Given the description of an element on the screen output the (x, y) to click on. 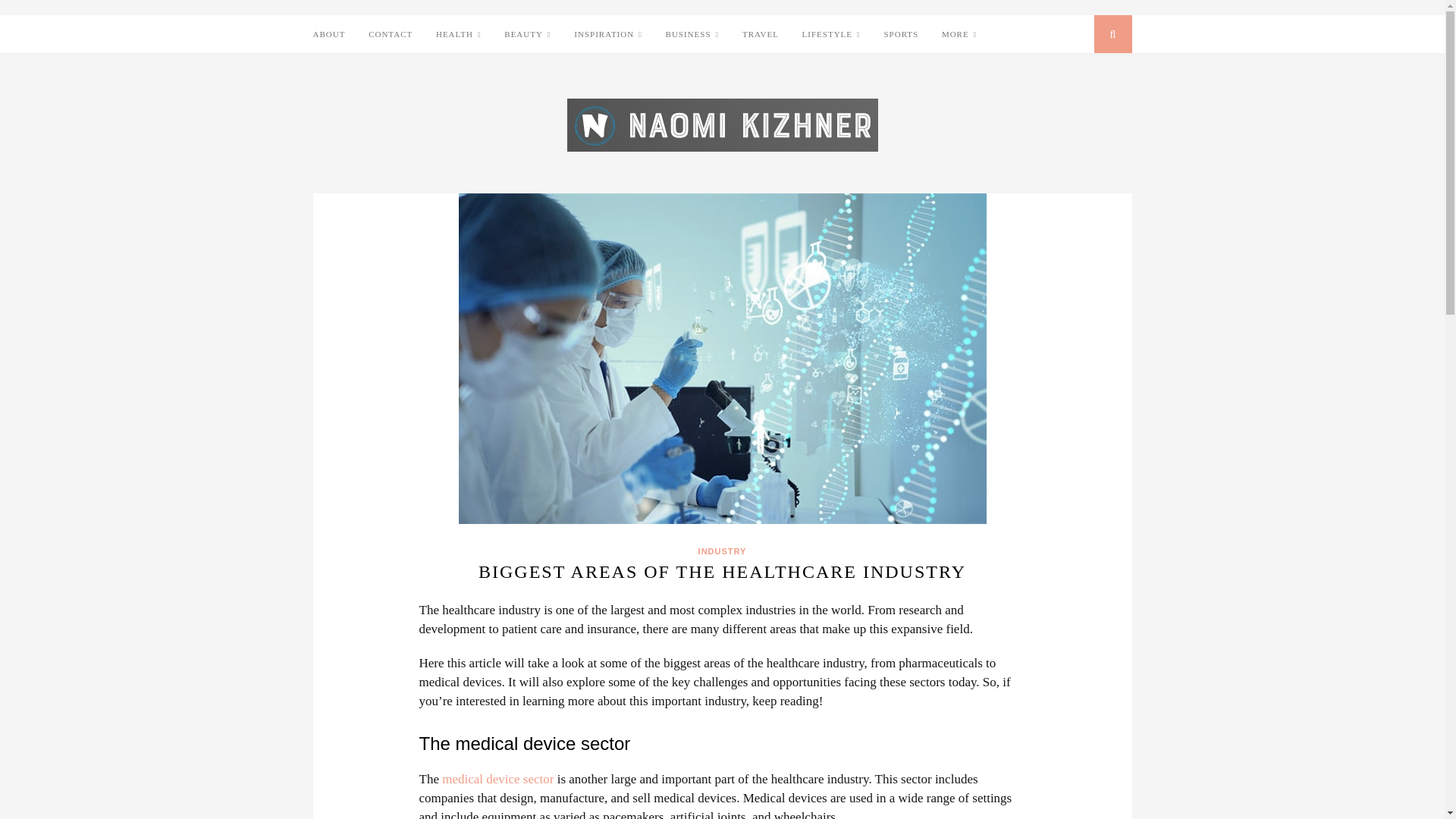
Contact (390, 34)
MORE (959, 34)
SPORTS (900, 34)
BUSINESS (692, 34)
LIFESTYLE (831, 34)
HEALTH (458, 34)
Beauty (526, 34)
TRAVEL (760, 34)
INSPIRATION (607, 34)
Inspiration (607, 34)
CONTACT (390, 34)
Business (692, 34)
BEAUTY (526, 34)
Health (458, 34)
